Given the description of an element on the screen output the (x, y) to click on. 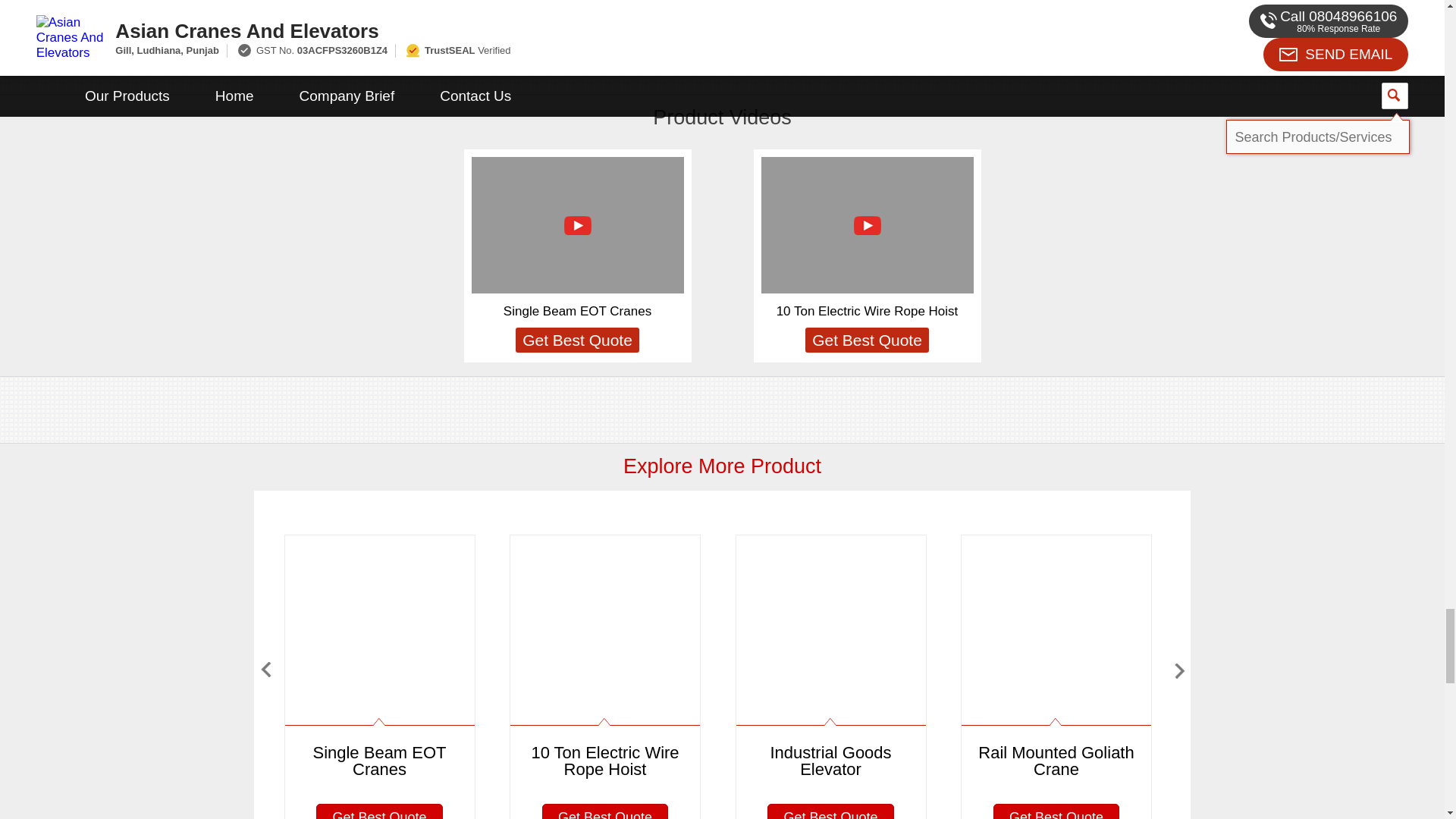
10 Ton Electric Wire Rope Hoist (867, 310)
Rail Mounted Goliath Crane (1055, 663)
Industrial Goods Elevator (829, 663)
10 Ton Electric Wire Rope Hoist (605, 663)
Single Beam EOT Cranes (379, 663)
Single Beam EOT Cranes (576, 310)
